Given the description of an element on the screen output the (x, y) to click on. 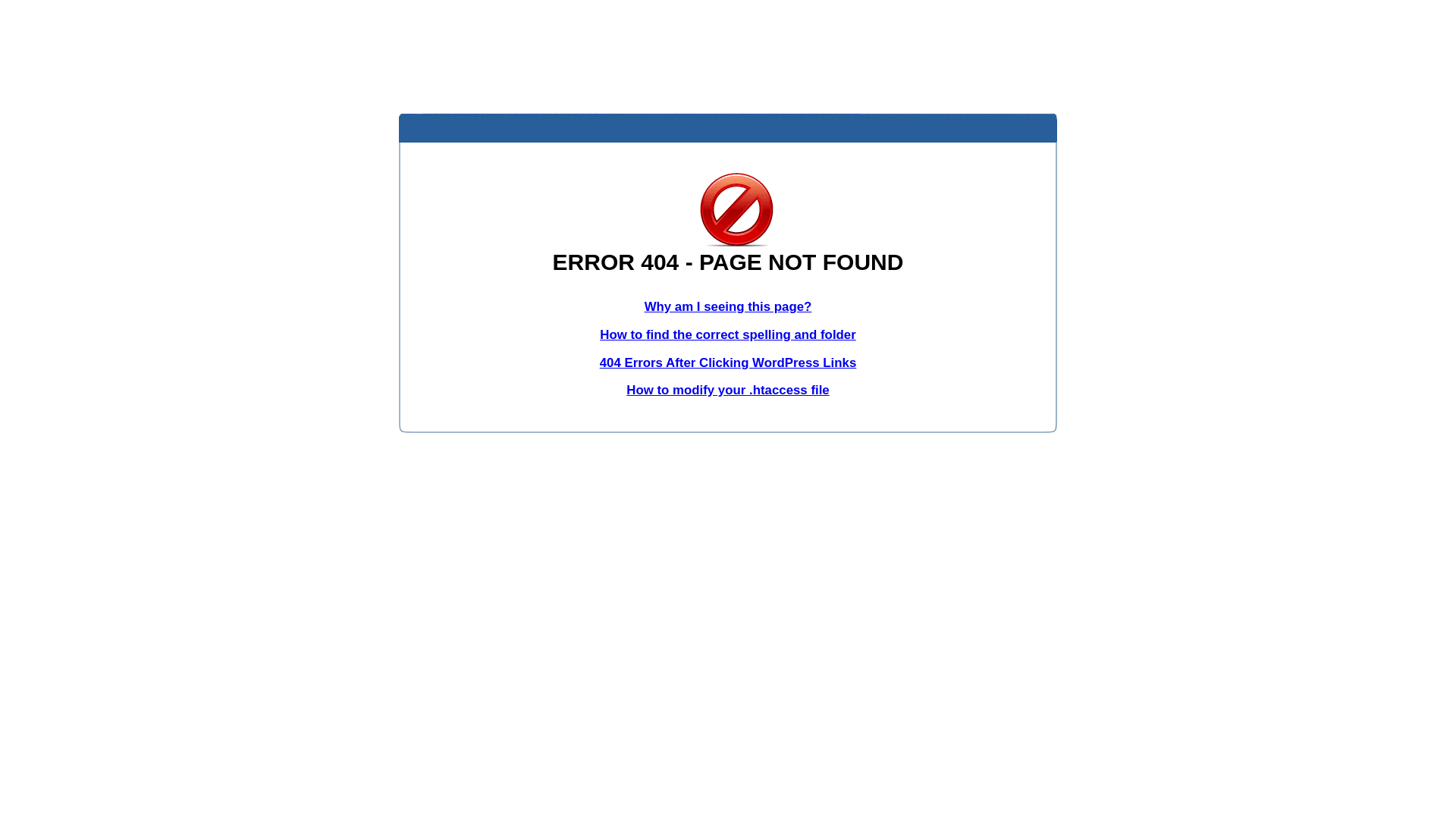
How to modify your .htaccess file Element type: text (727, 389)
Why am I seeing this page? Element type: text (728, 306)
404 Errors After Clicking WordPress Links Element type: text (727, 362)
How to find the correct spelling and folder Element type: text (727, 334)
